Given the description of an element on the screen output the (x, y) to click on. 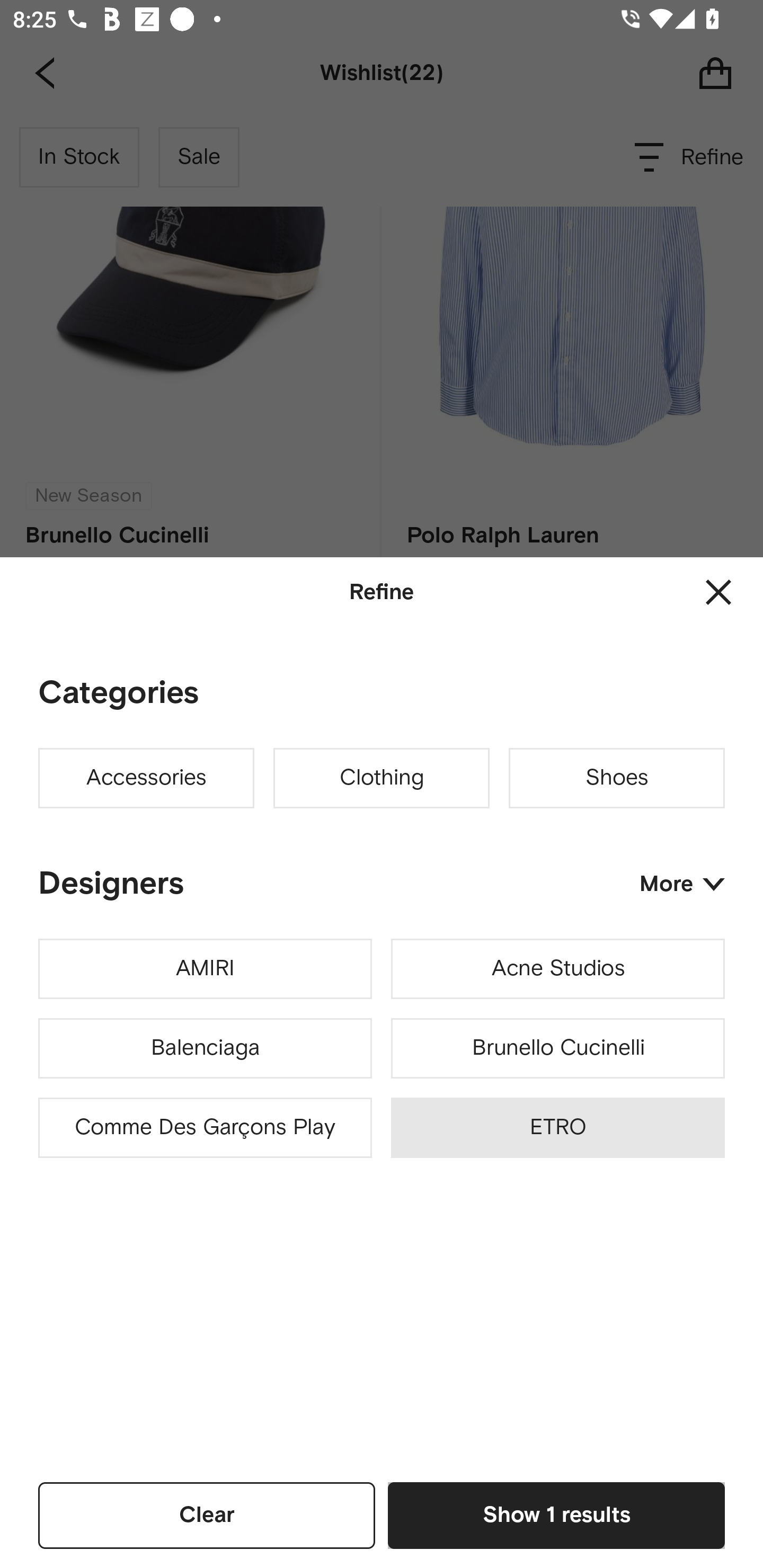
Accessories (146, 778)
Clothing (381, 778)
Shoes (616, 778)
More (681, 884)
AMIRI (205, 968)
Acne Studios (557, 968)
Balenciaga (205, 1047)
Brunello Cucinelli (557, 1047)
Comme Des Garçons Play (205, 1127)
ETRO (557, 1127)
Clear (206, 1515)
Show 1 results (555, 1515)
